Given the description of an element on the screen output the (x, y) to click on. 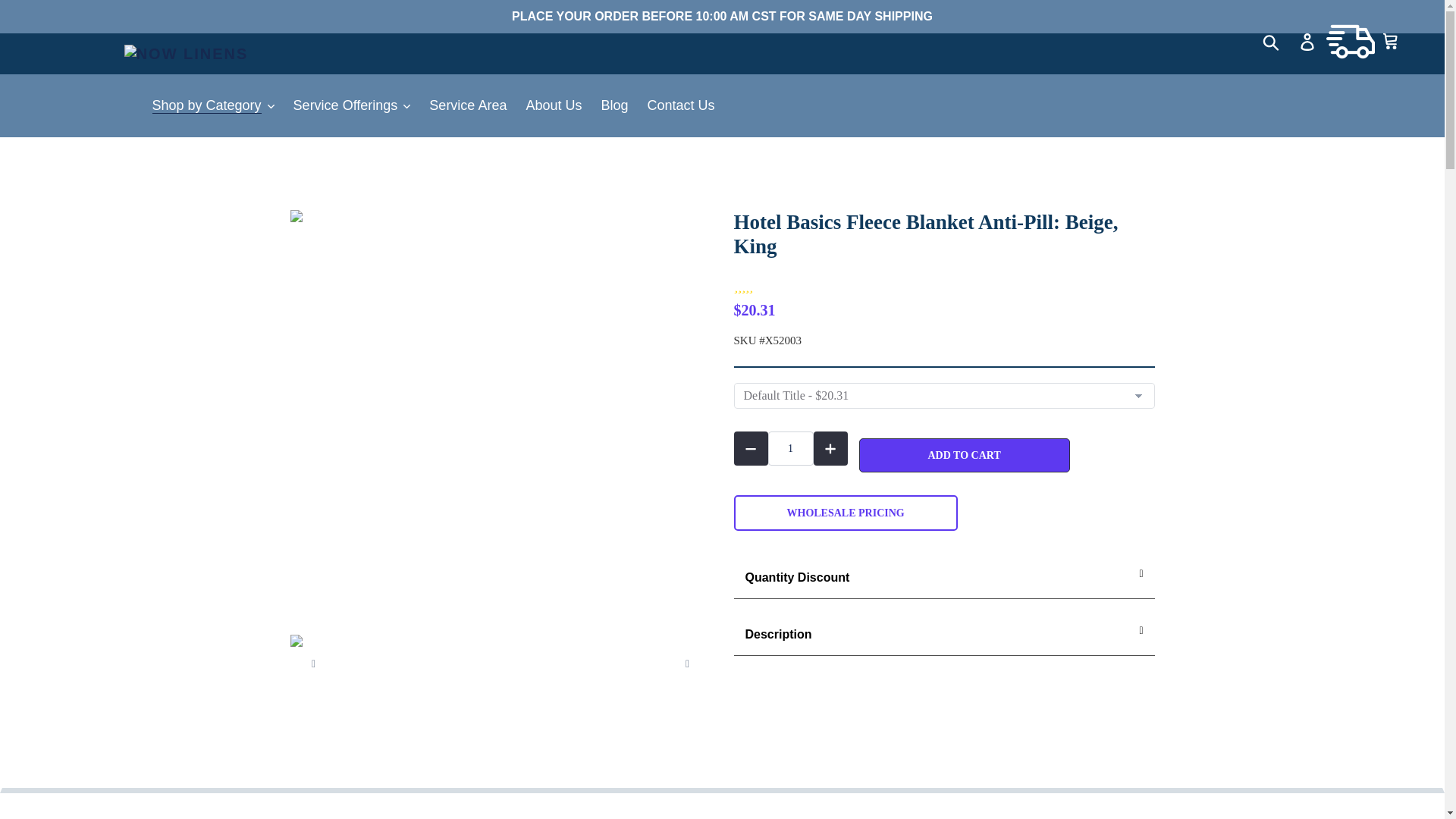
1 (789, 448)
Submit (1271, 41)
About Us (553, 105)
Service Area (467, 105)
Blog (613, 105)
facebook-like (943, 681)
Contact Us (681, 105)
Rental and Delivery (1350, 41)
